Given the description of an element on the screen output the (x, y) to click on. 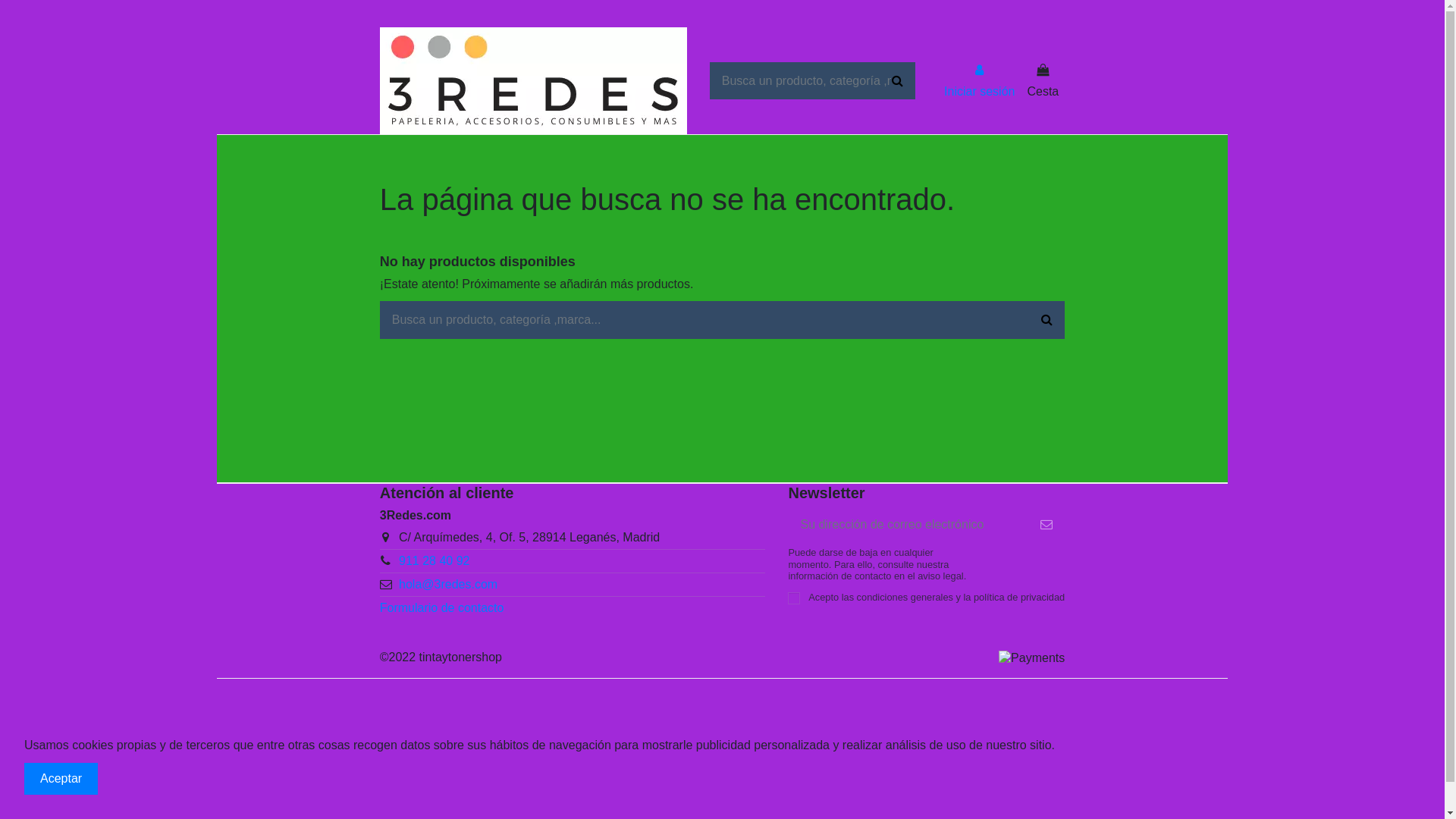
Cesta Element type: text (1042, 80)
Aceptar Element type: text (60, 778)
hola@3redes.com Element type: text (447, 583)
Formulario de contacto Element type: text (441, 607)
911 28 40 92 Element type: text (433, 560)
